Given the description of an element on the screen output the (x, y) to click on. 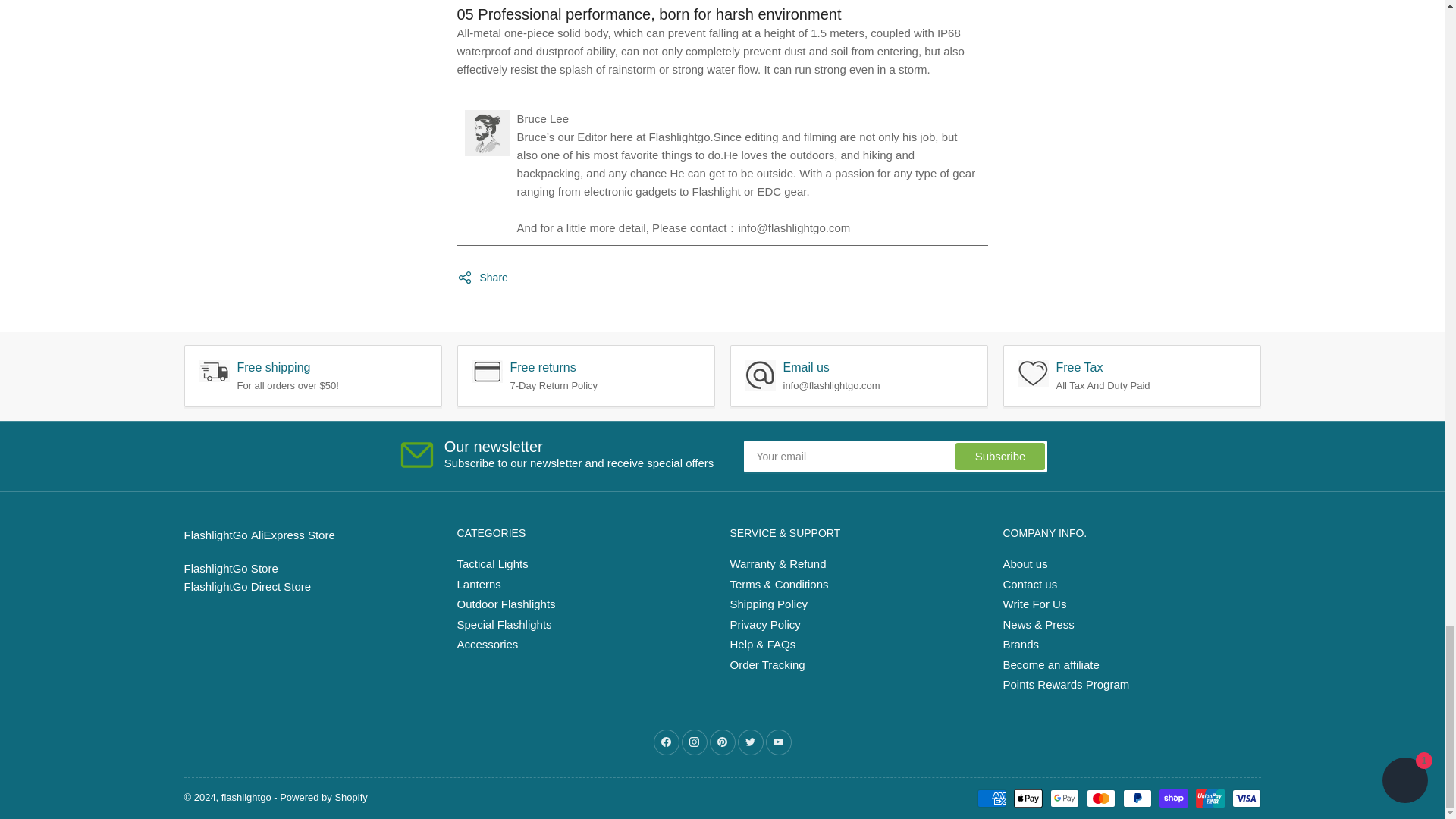
Google Pay (1063, 798)
Apple Pay (1027, 798)
American Express (991, 798)
